Given the description of an element on the screen output the (x, y) to click on. 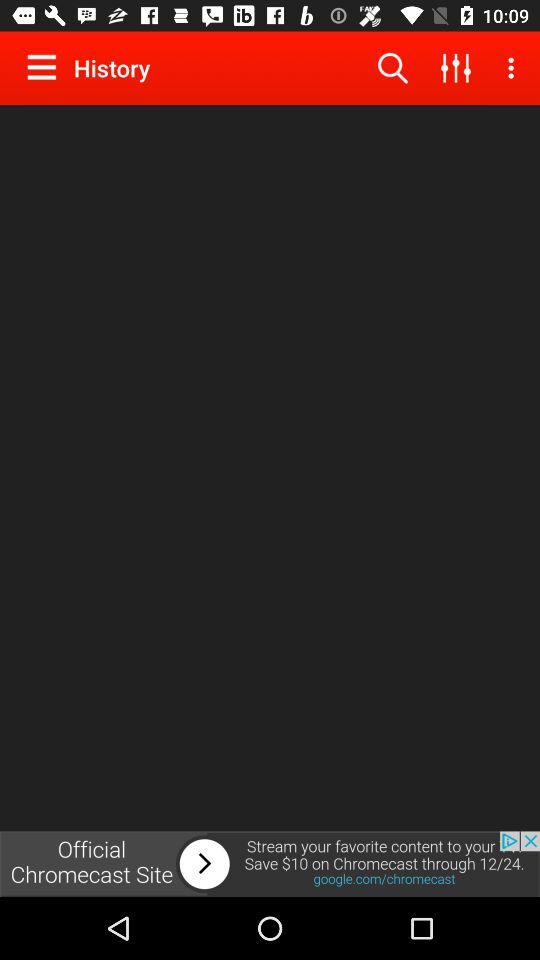
advertisement (270, 864)
